Given the description of an element on the screen output the (x, y) to click on. 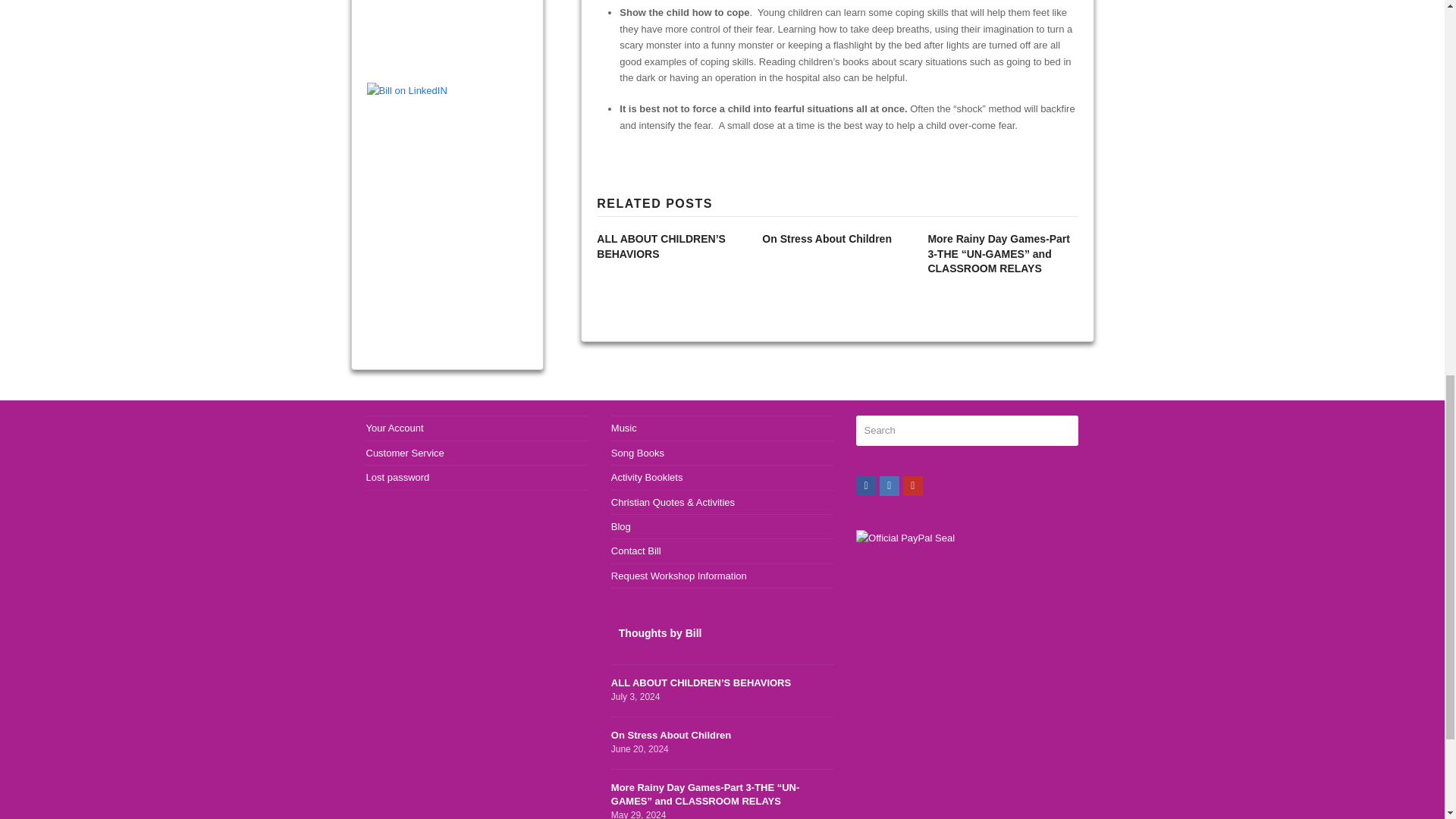
Youtube (912, 485)
Blog (620, 526)
Music (624, 428)
Activity Booklets (646, 477)
Contact Bill (636, 550)
Customer Service (404, 452)
Lost password (397, 477)
On Stress About Children (826, 238)
Facebook (721, 742)
Your Account (866, 485)
Request Workshop Information (394, 428)
Song Books (678, 575)
LinkedIn (637, 452)
